Given the description of an element on the screen output the (x, y) to click on. 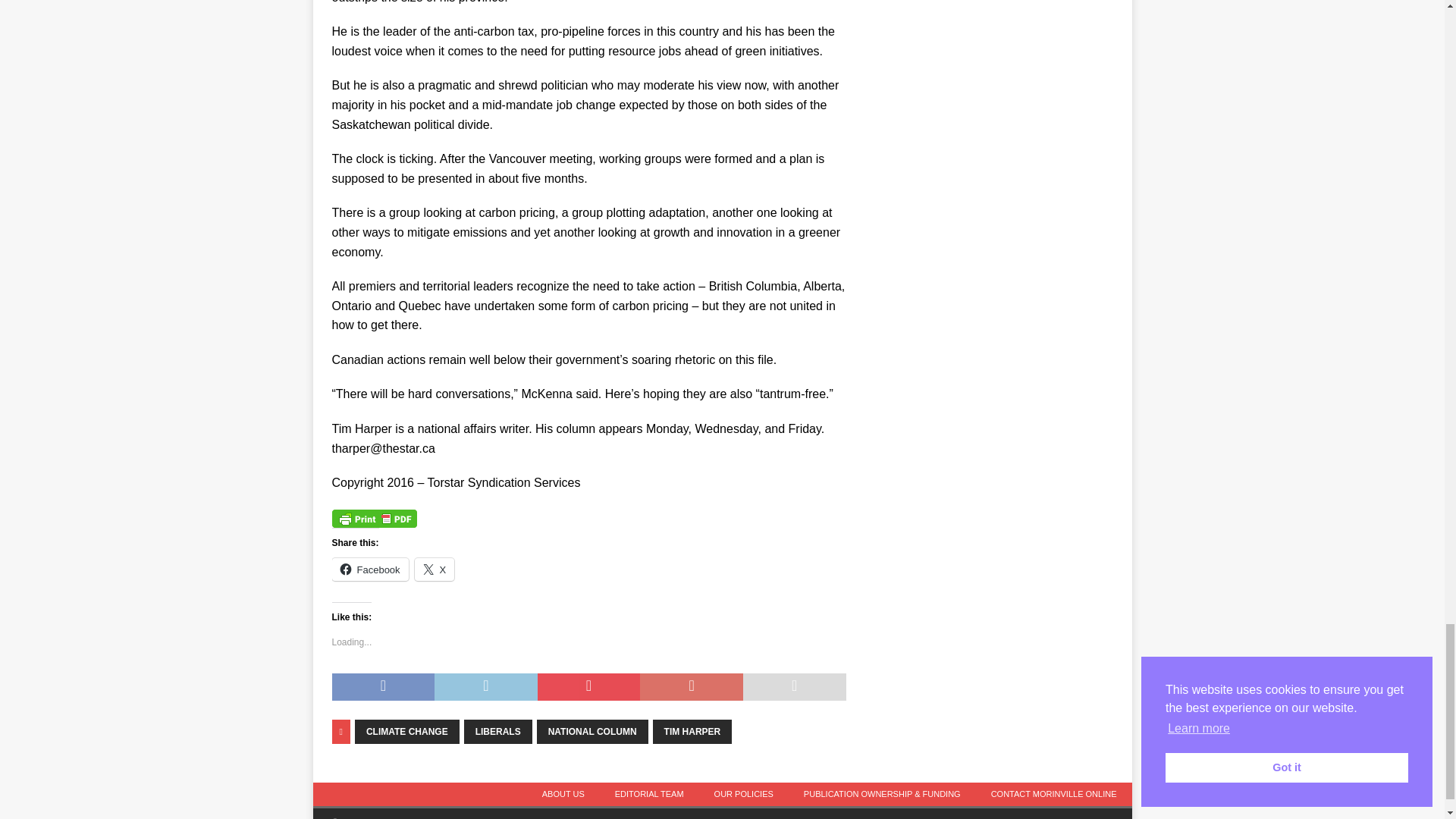
Click to share on X (434, 568)
Click to share on Facebook (370, 568)
